Given the description of an element on the screen output the (x, y) to click on. 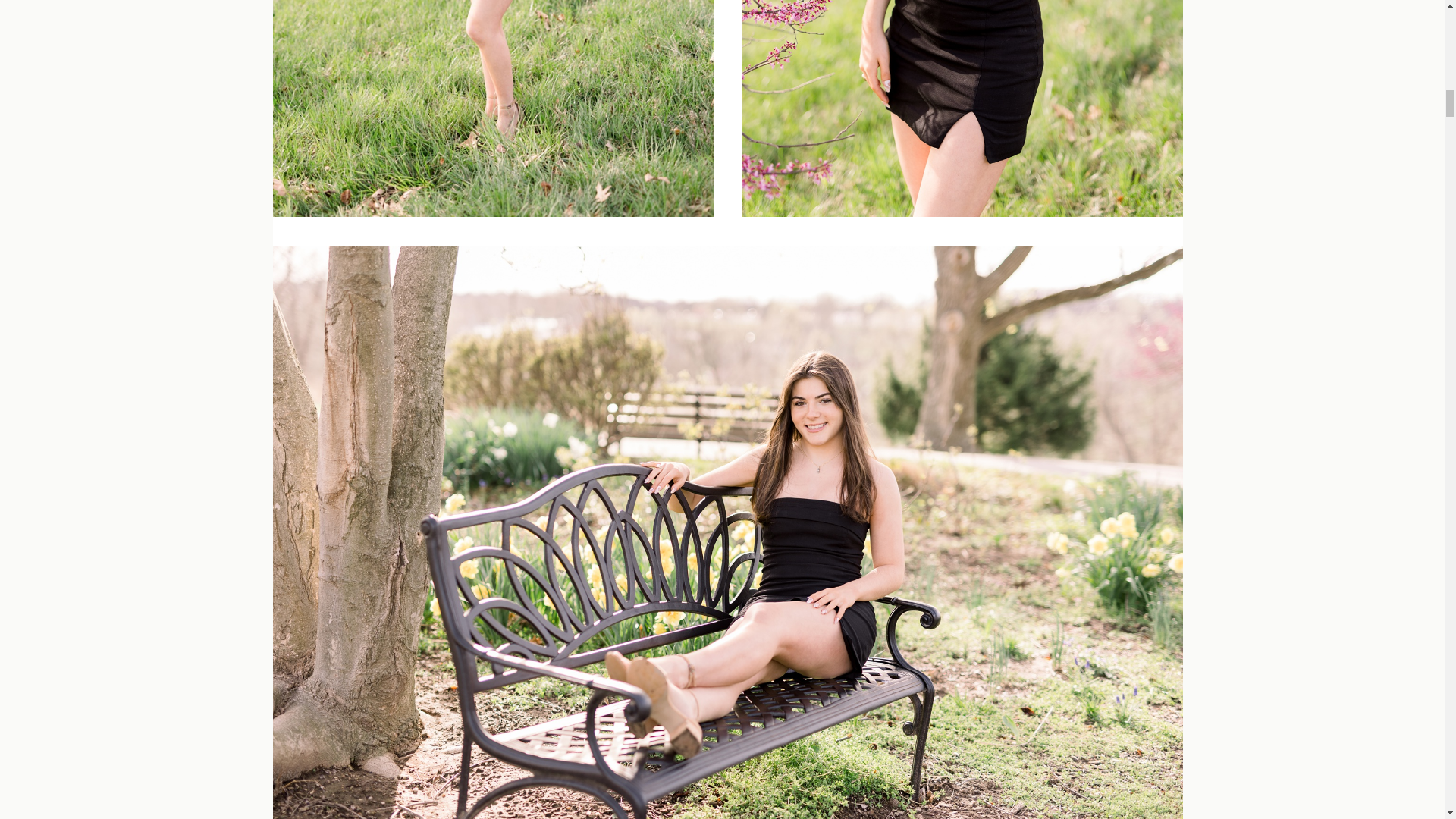
Nashville Senior Photography (962, 108)
Nashville Senior Photography (493, 108)
